Given the description of an element on the screen output the (x, y) to click on. 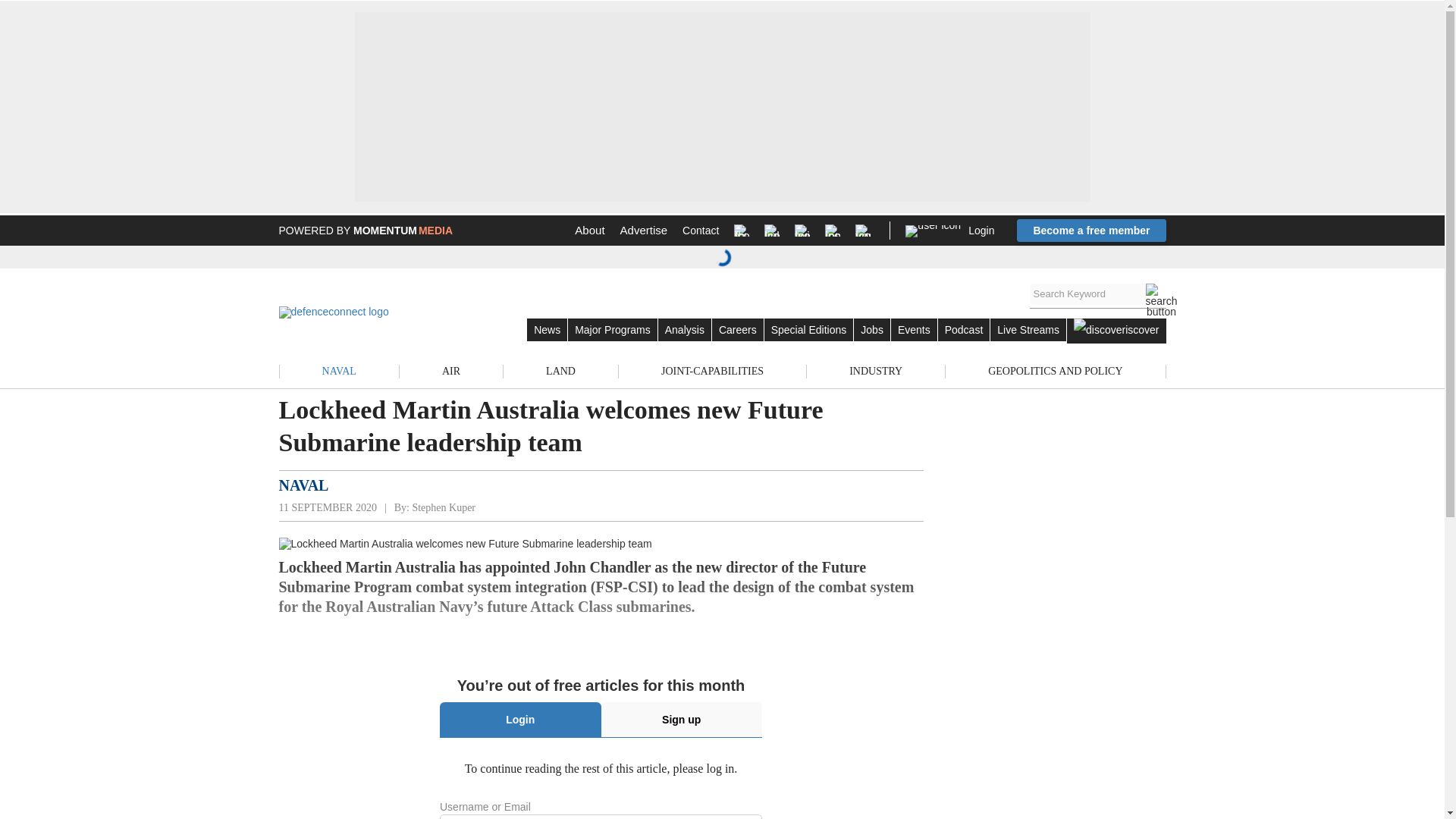
Become a free member (1091, 230)
